Given the description of an element on the screen output the (x, y) to click on. 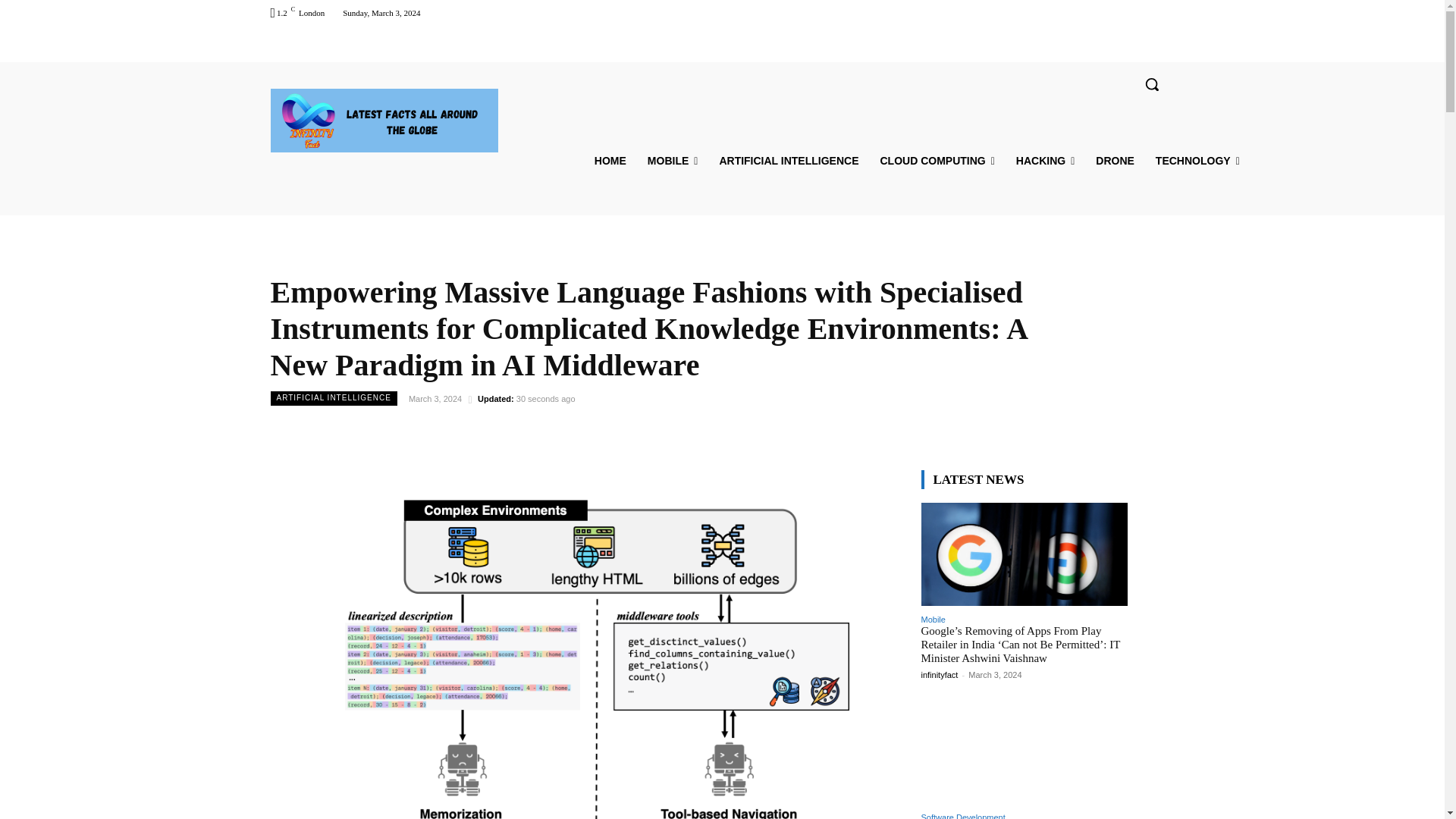
HOME (610, 160)
MOBILE (673, 160)
ARTIFICIAL INTELLIGENCE (788, 160)
HACKING (1045, 160)
CLOUD COMPUTING (936, 160)
